Given the description of an element on the screen output the (x, y) to click on. 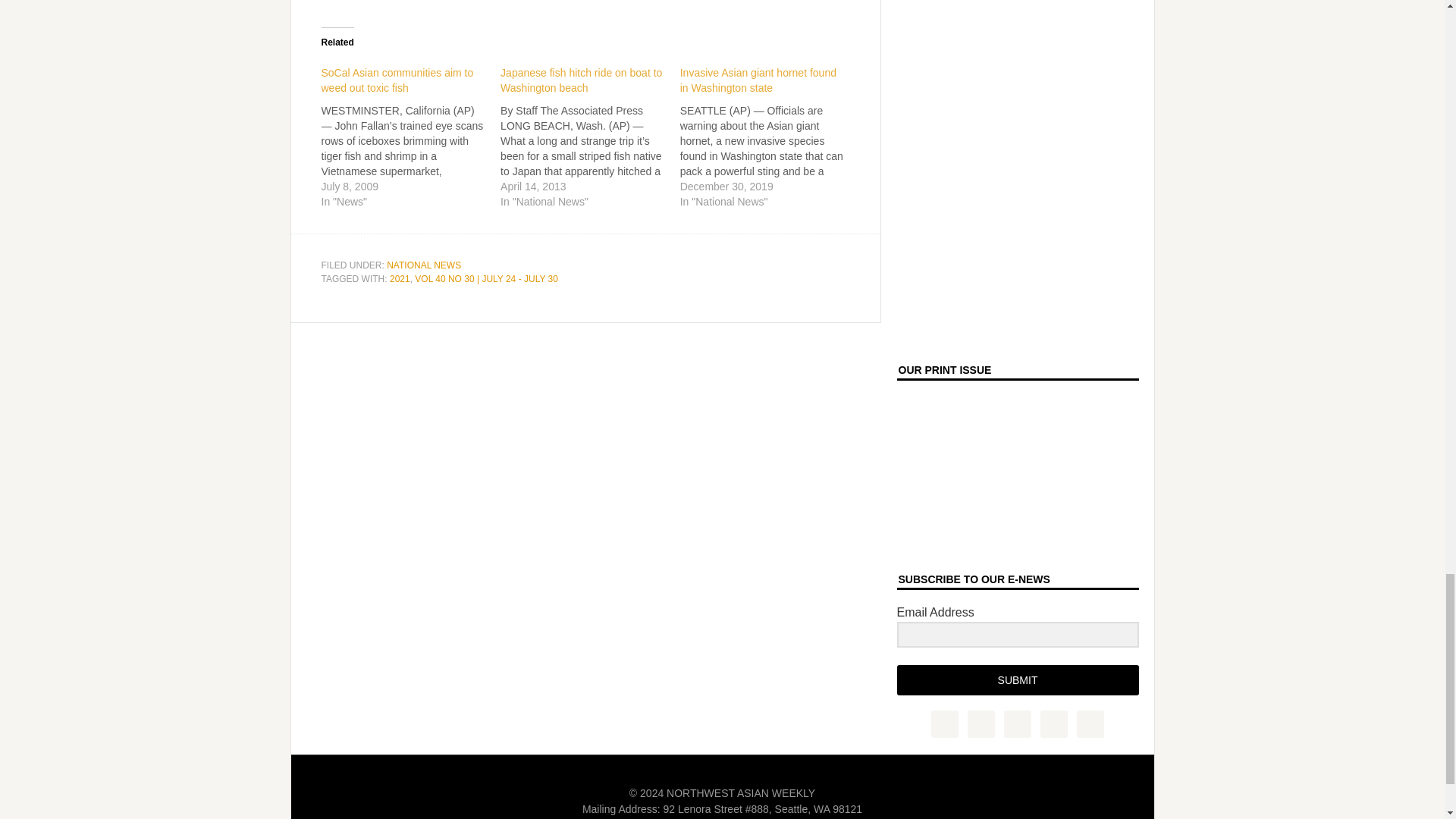
Invasive Asian giant hornet found in Washington state (757, 80)
Invasive Asian giant hornet found in Washington state (769, 133)
SoCal Asian communities aim to weed out toxic fish (397, 80)
Japanese fish hitch ride on boat to Washington beach (581, 80)
Japanese fish hitch ride on boat to Washington beach (589, 133)
SoCal Asian communities aim to weed out toxic fish (410, 133)
